Given the description of an element on the screen output the (x, y) to click on. 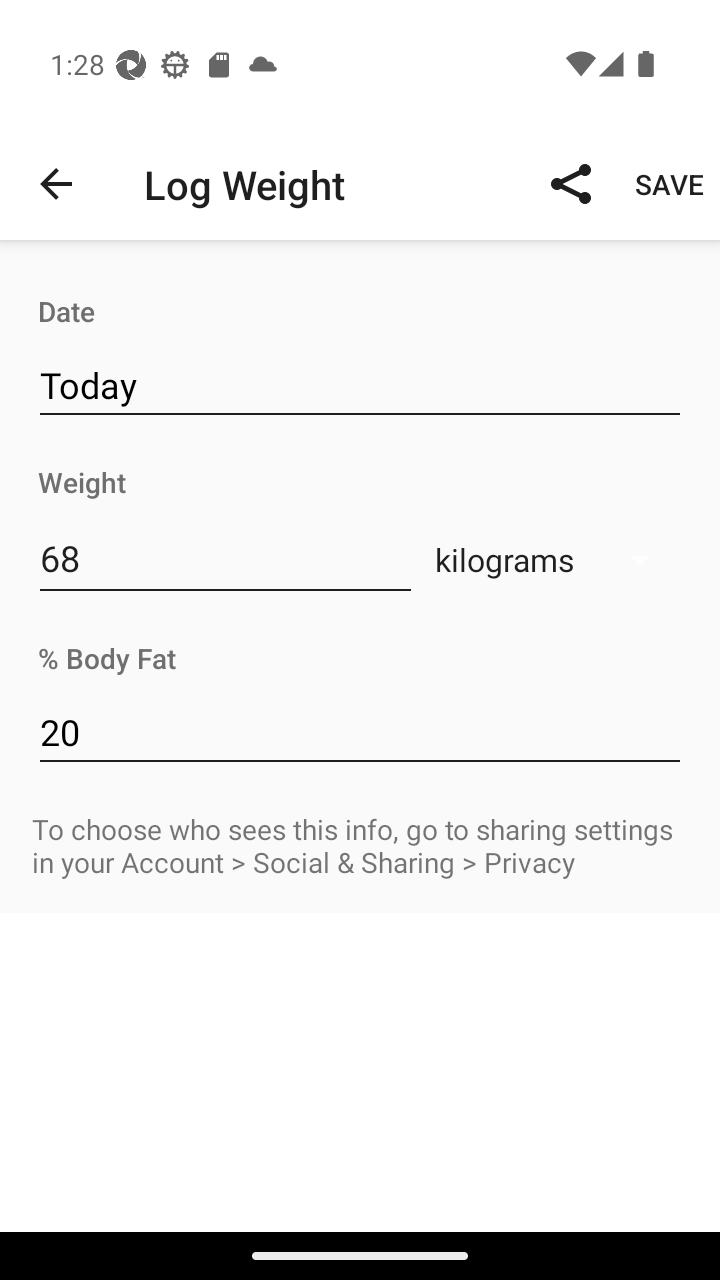
Navigate up (56, 184)
Share (570, 183)
SAVE (669, 183)
Today (359, 385)
68 Main Part (225, 558)
Measurement Unit kilograms (553, 559)
20 (359, 732)
